Given the description of an element on the screen output the (x, y) to click on. 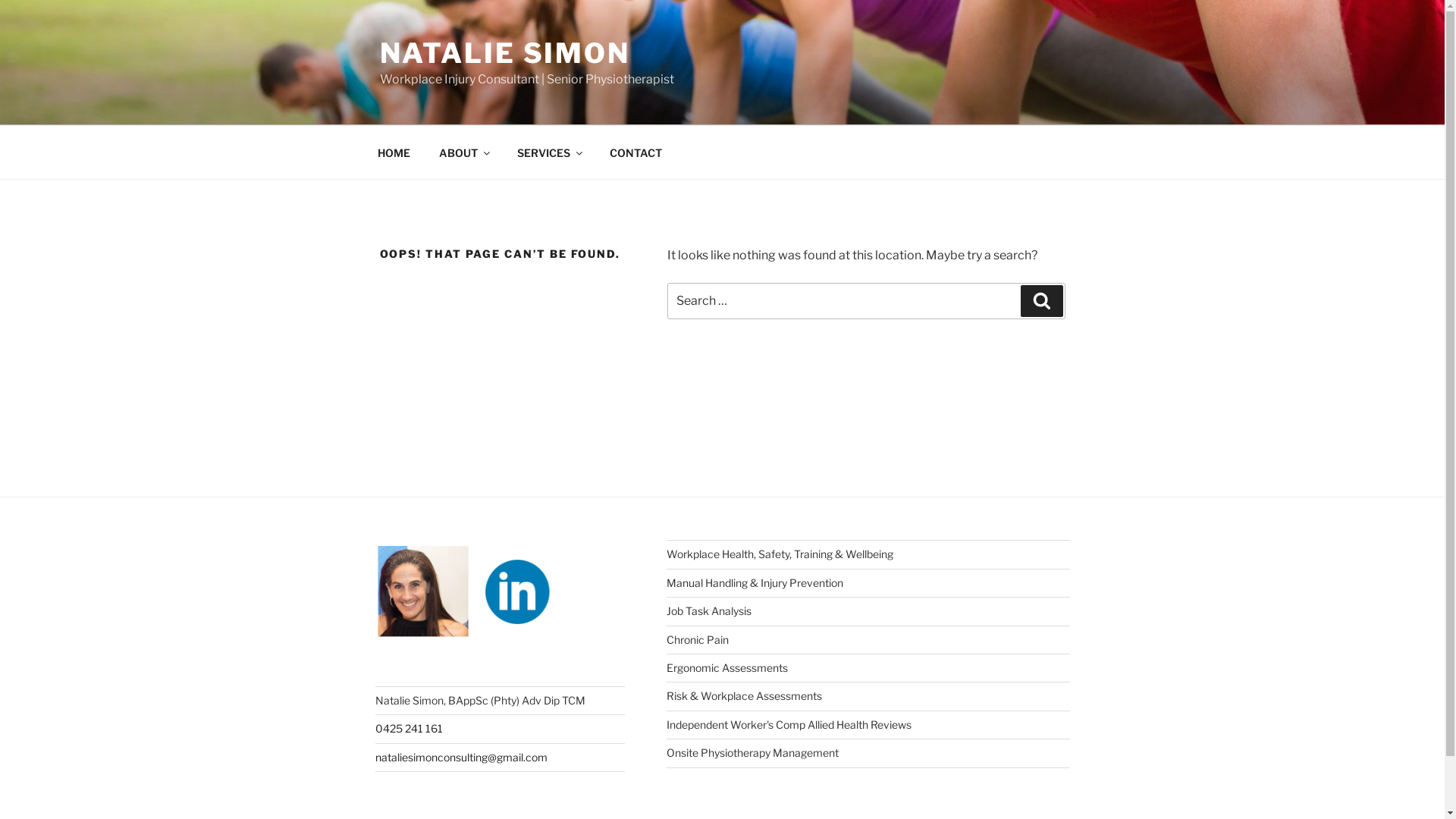
NATALIE SIMON Element type: text (504, 52)
HOME Element type: text (393, 151)
CONTACT Element type: text (635, 151)
0425 241 161 Element type: text (408, 727)
SERVICES Element type: text (548, 151)
nataliesimonconsulting@gmail.com Element type: text (460, 756)
ABOUT Element type: text (464, 151)
Search Element type: text (1041, 300)
